Given the description of an element on the screen output the (x, y) to click on. 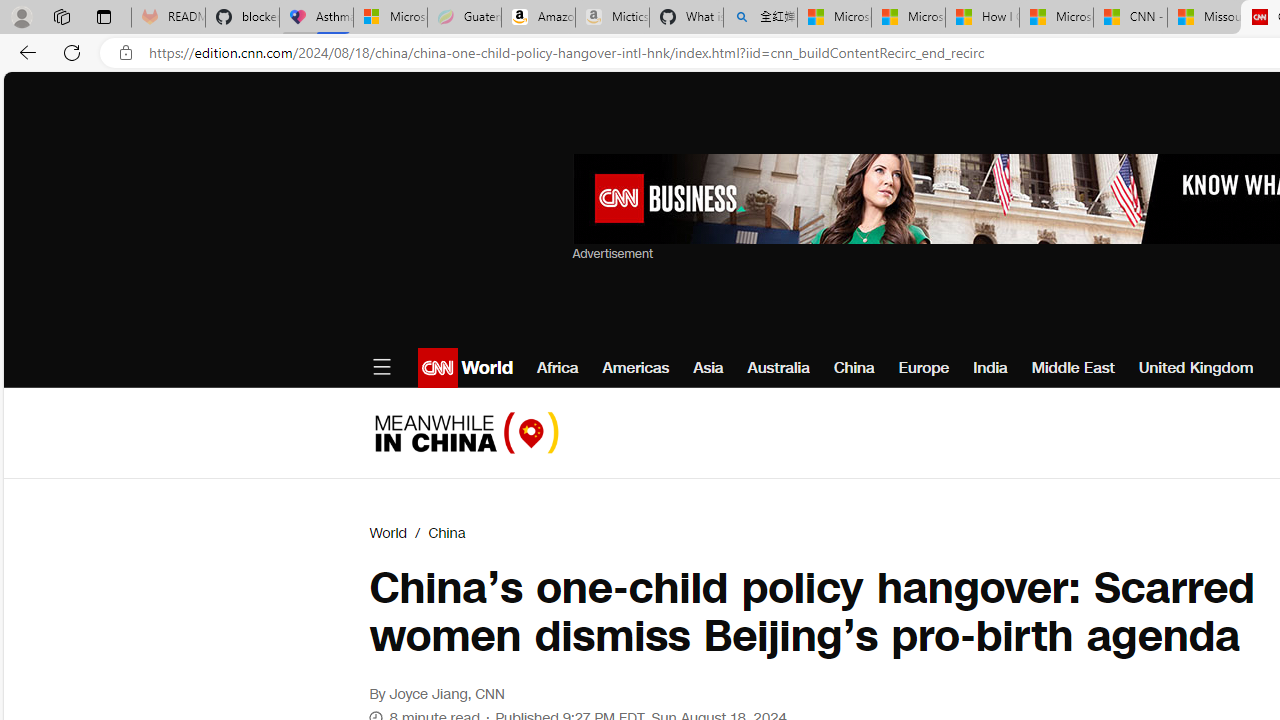
Asthma Inhalers: Names and Types (316, 17)
Europe (923, 367)
How I Got Rid of Microsoft Edge's Unnecessary Features (981, 17)
CNN - MSN (1130, 17)
Middle East (1072, 367)
Asia (708, 367)
India (990, 367)
Meanwhile in China (465, 432)
Open Menu Icon (381, 367)
China (446, 533)
